Given the description of an element on the screen output the (x, y) to click on. 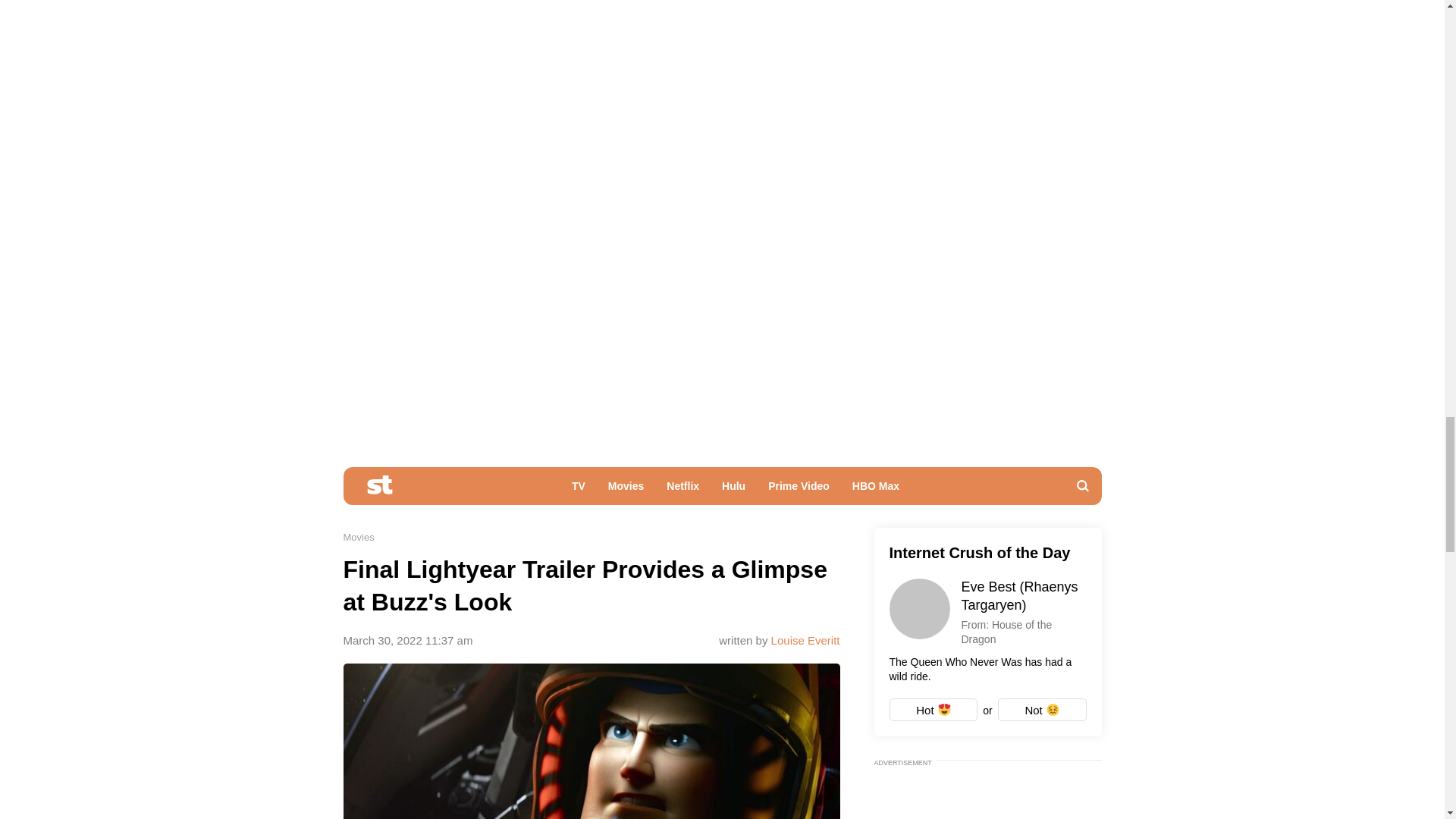
Prime Video (799, 490)
Netflix (682, 490)
TV (578, 490)
Movies (358, 536)
Hulu (733, 490)
Louise Everitt (805, 640)
Final Lightyear Trailer Provides a Glimpse at Buzz's Look (591, 741)
HBO Max (876, 490)
Movies (625, 490)
